Given the description of an element on the screen output the (x, y) to click on. 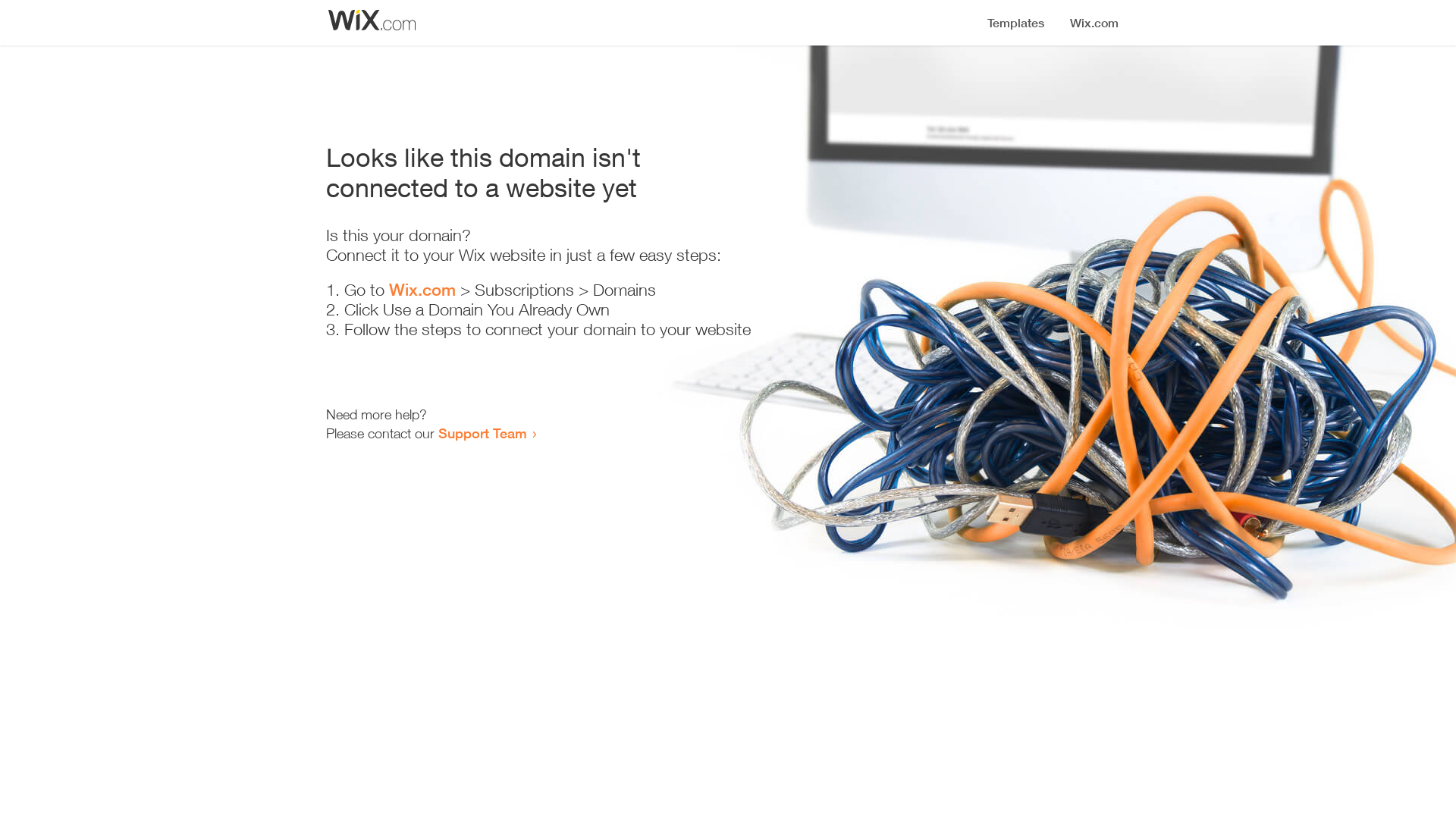
Support Team Element type: text (482, 432)
Wix.com Element type: text (422, 289)
